Given the description of an element on the screen output the (x, y) to click on. 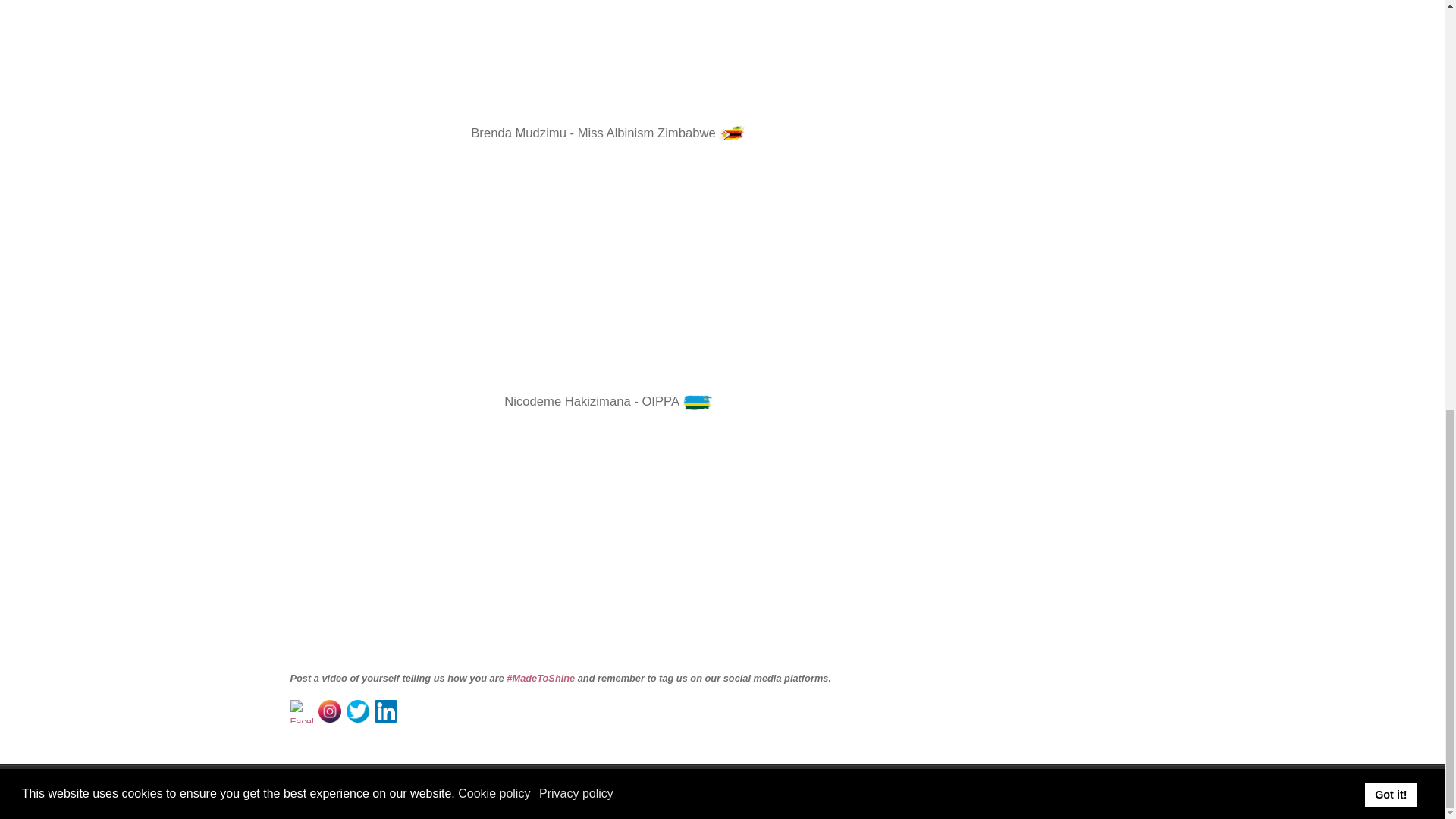
Centre for Human Rights (853, 785)
Instagram (329, 709)
University of Pretoria (643, 785)
Twitter (357, 709)
LinkedIn (385, 709)
Facebook (301, 709)
